Given the description of an element on the screen output the (x, y) to click on. 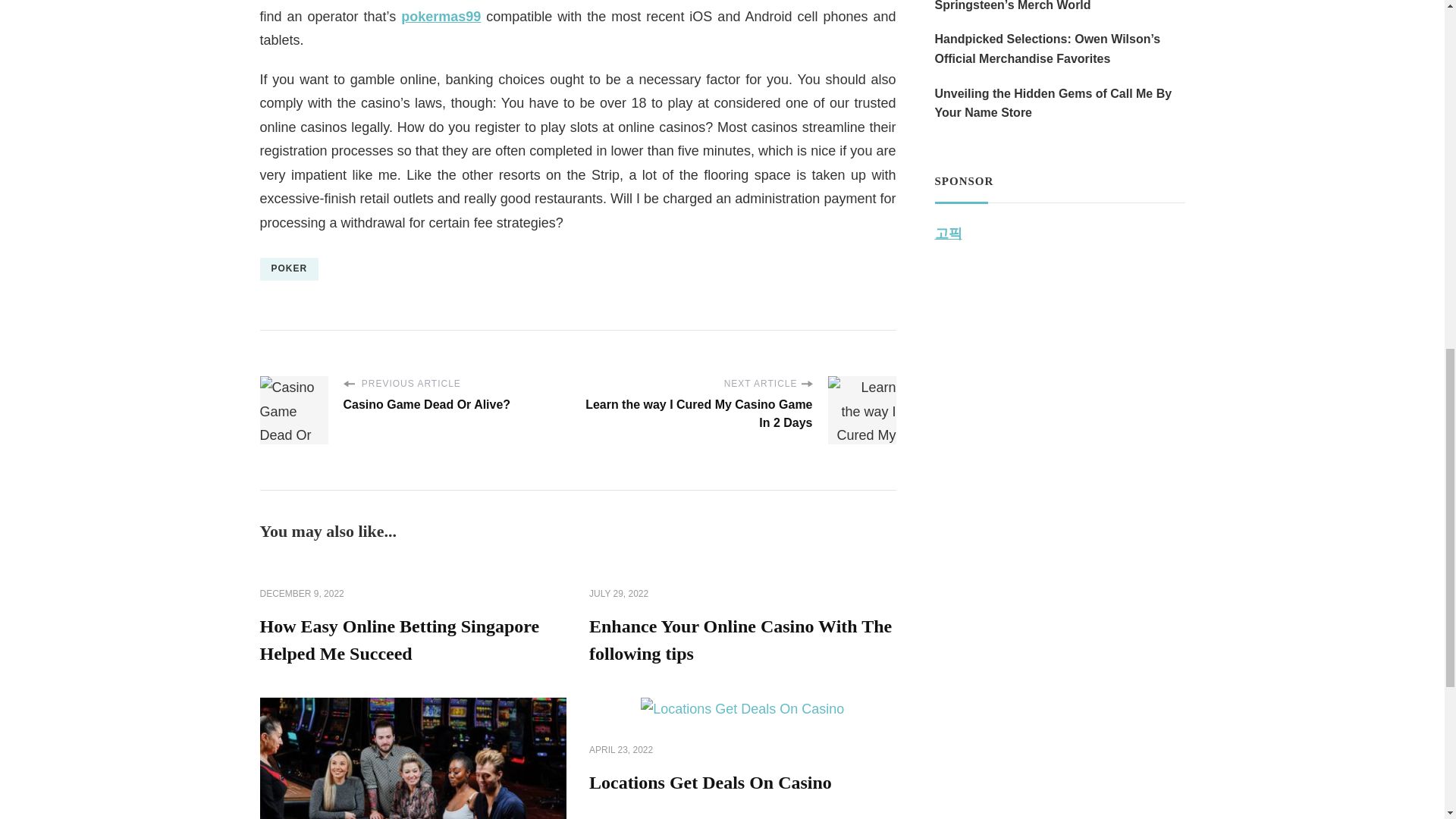
APRIL 23, 2022 (620, 750)
POKER (288, 268)
JULY 29, 2022 (618, 594)
Enhance Your Online Casino With The following tips (740, 639)
pokermas99 (440, 16)
How Easy Online Betting Singapore Helped Me Succeed (398, 639)
Locations Get Deals On Casino (710, 782)
DECEMBER 9, 2022 (301, 594)
